Given the description of an element on the screen output the (x, y) to click on. 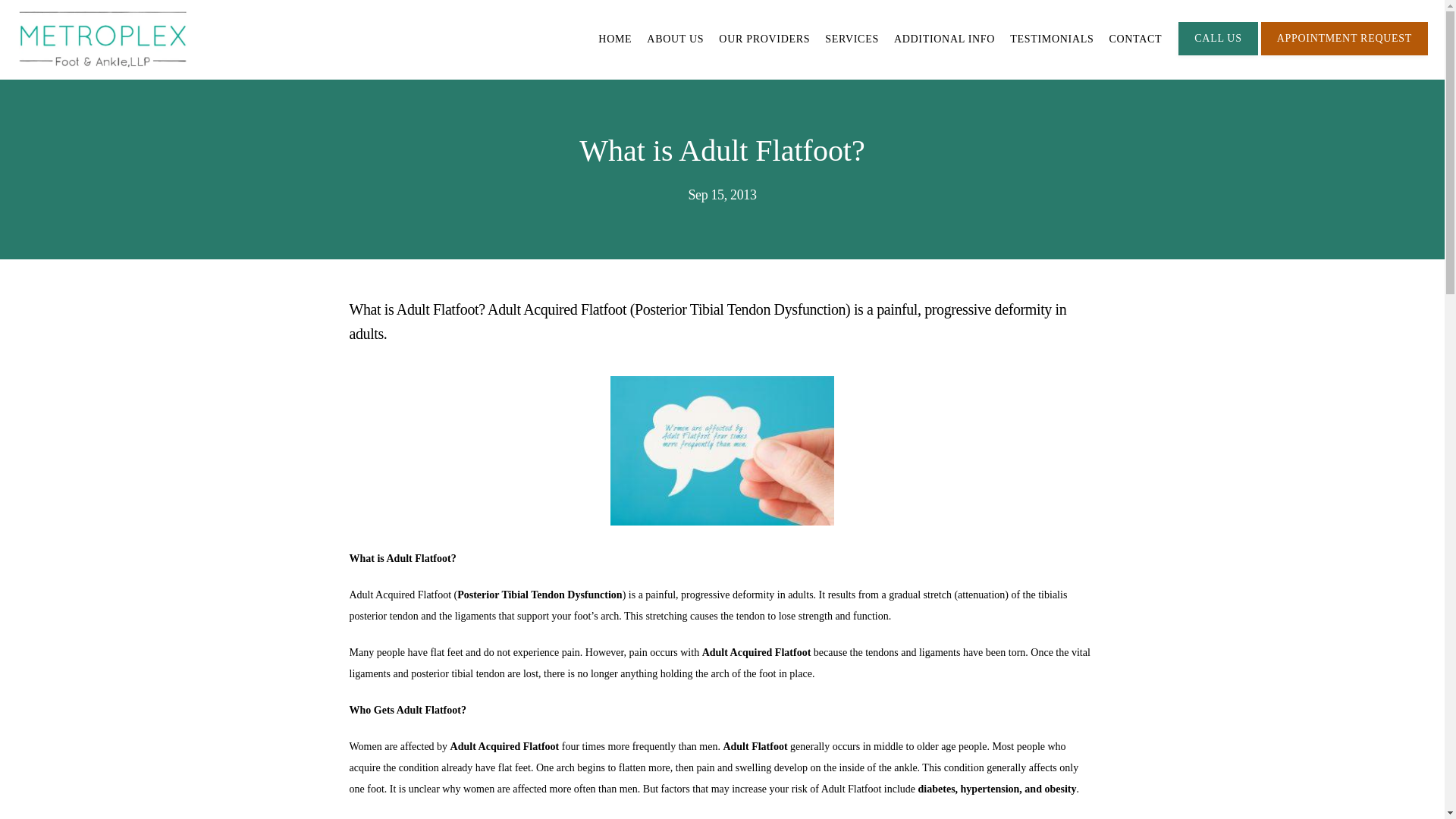
ABOUT US (674, 39)
SERVICES (852, 39)
APPOINTMENT REQUEST (1344, 53)
HOME (614, 39)
TESTIMONIALS (1051, 39)
OUR PROVIDERS (764, 39)
CONTACT (1134, 39)
ADDITIONAL INFO (943, 39)
CALL US (1217, 53)
